Given the description of an element on the screen output the (x, y) to click on. 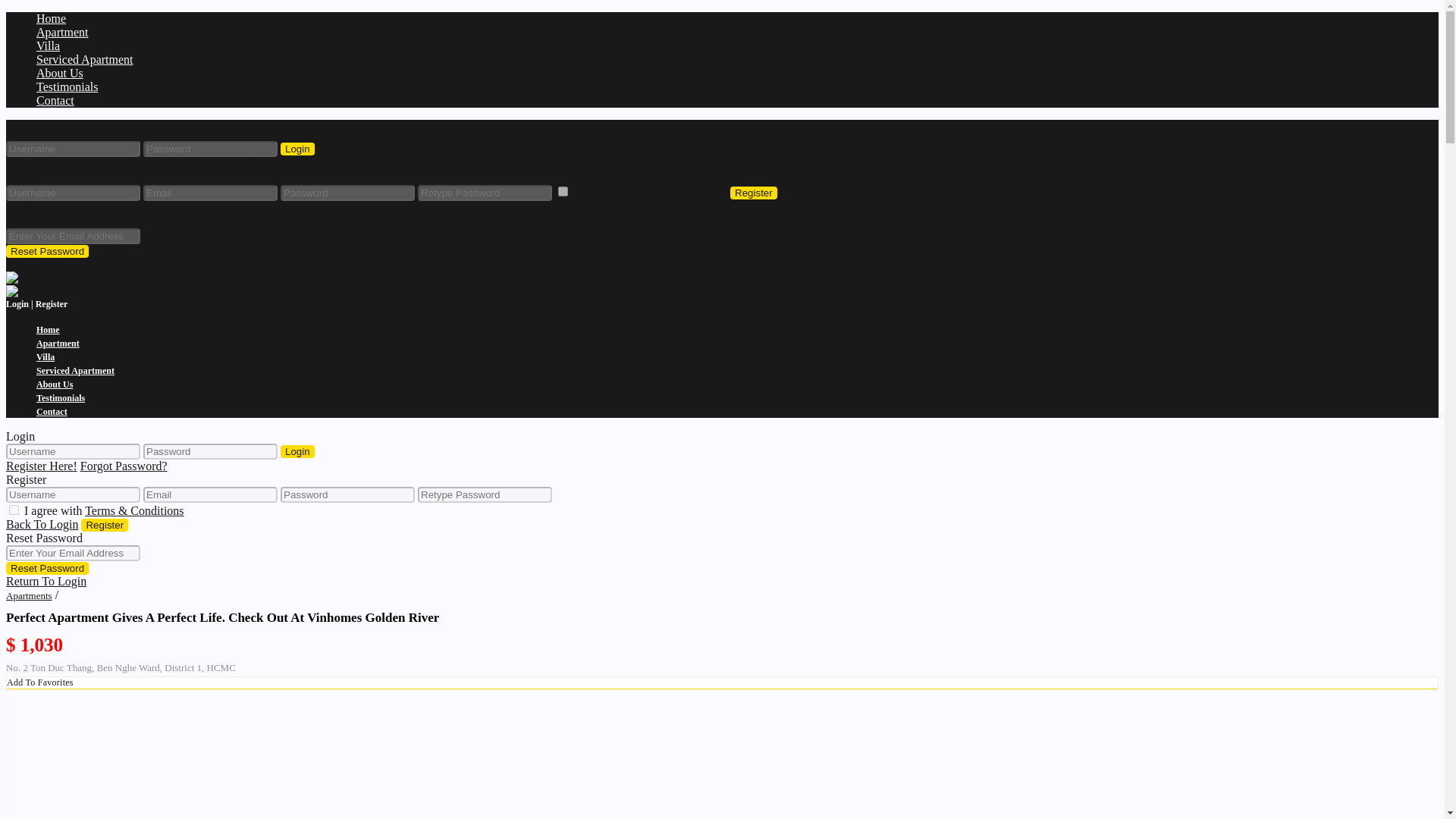
Login (297, 148)
Need an account? Register here! (84, 163)
Serviced Apartment (75, 370)
Reset Password (46, 250)
Apartment (58, 343)
Register Here! (41, 465)
About Us (54, 384)
Register (753, 192)
Forgot Password? (123, 465)
Contact (55, 100)
